Given the description of an element on the screen output the (x, y) to click on. 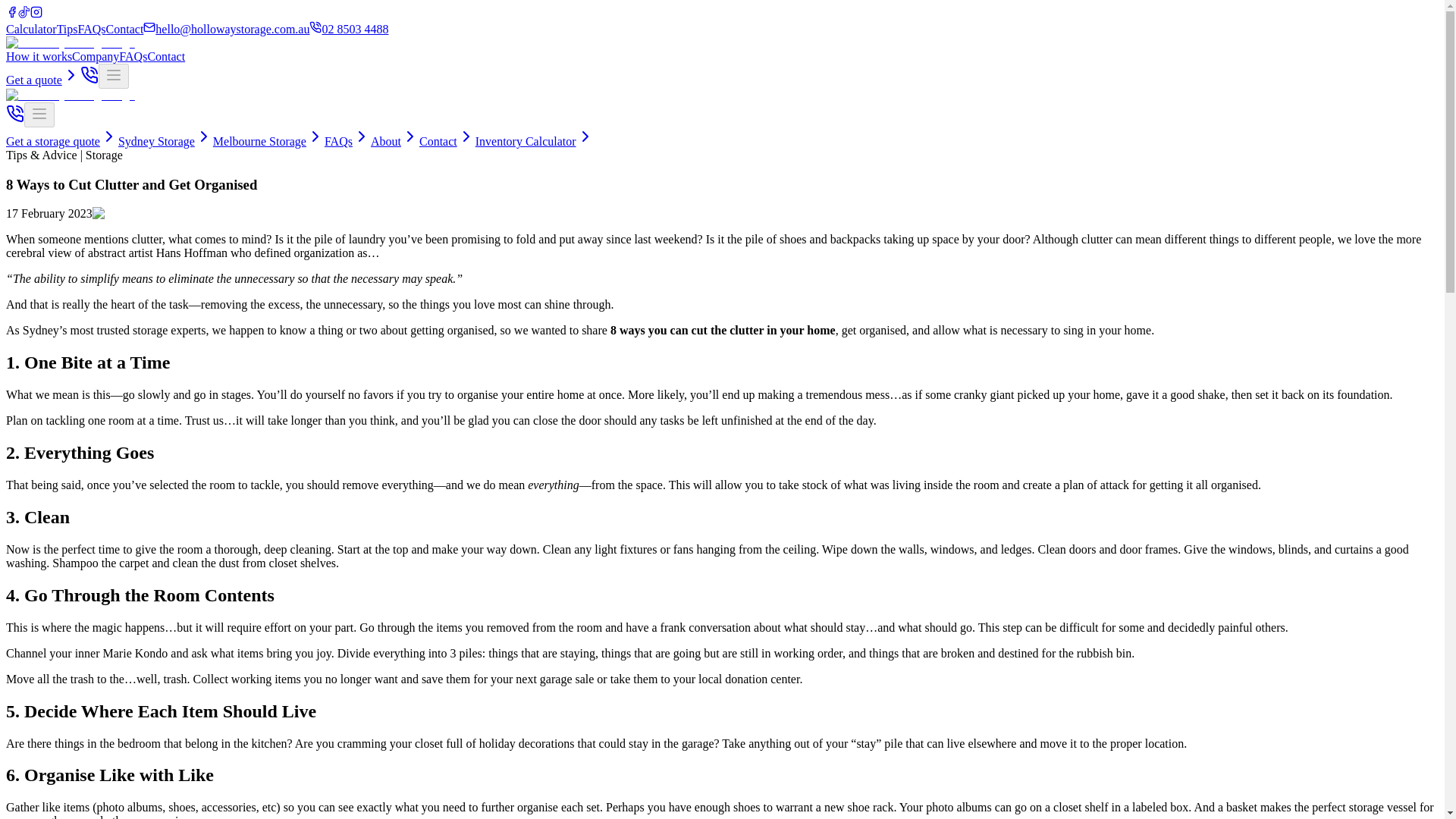
Tips (67, 29)
Contact (125, 29)
Contact (165, 56)
FAQs (133, 56)
Get a quote (42, 79)
02 8503 4488 (348, 29)
How it works (38, 56)
Inventory Calculator (535, 141)
TikTok (23, 13)
About (395, 141)
